Given the description of an element on the screen output the (x, y) to click on. 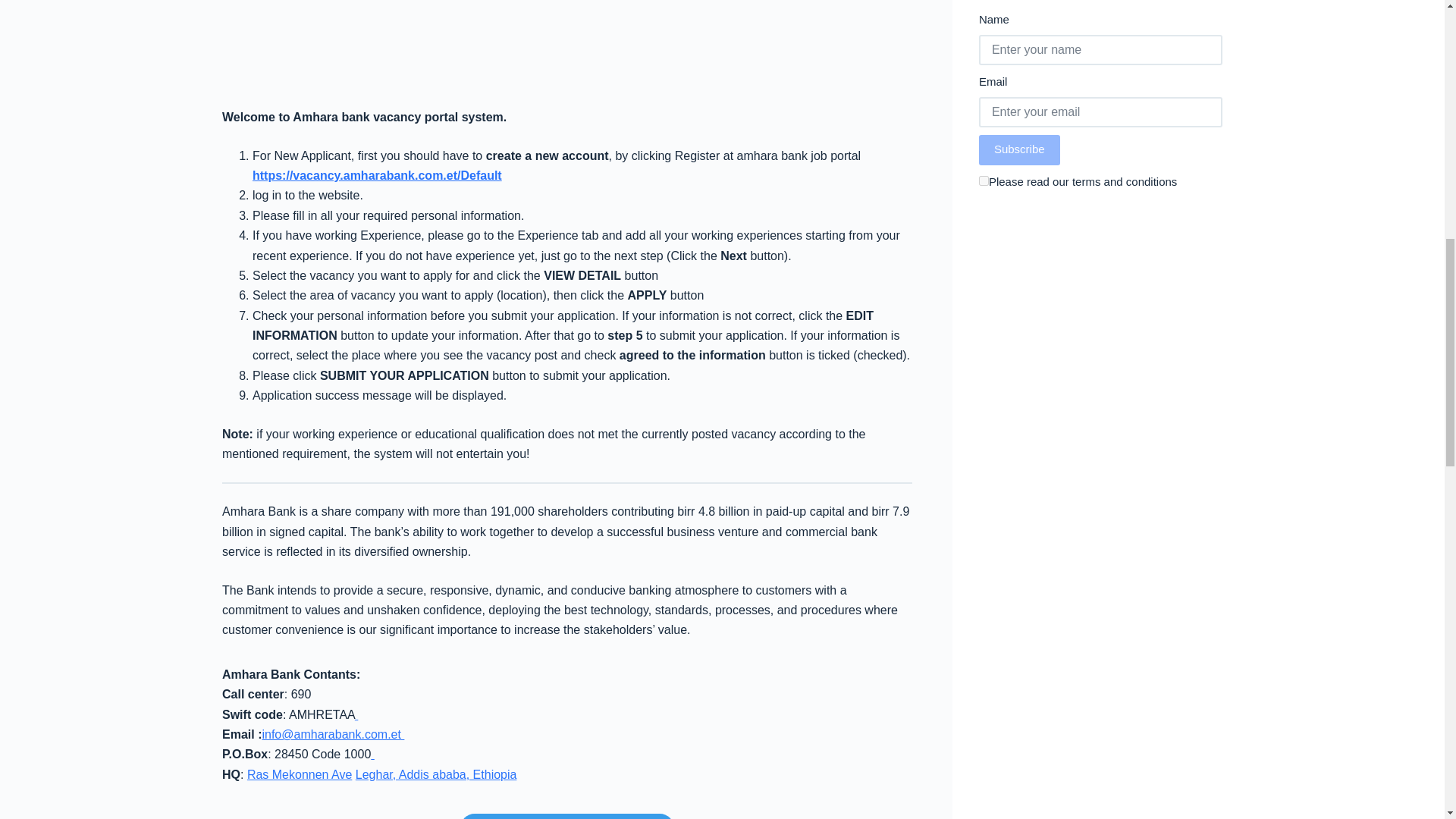
Advertisement (567, 50)
Ras Mekonnen Ave (299, 774)
Please Join Our Telegram Channel (566, 816)
true (983, 180)
Leghar, Addis ababa, Ethiopia (435, 774)
Subscribe (1018, 150)
